Given the description of an element on the screen output the (x, y) to click on. 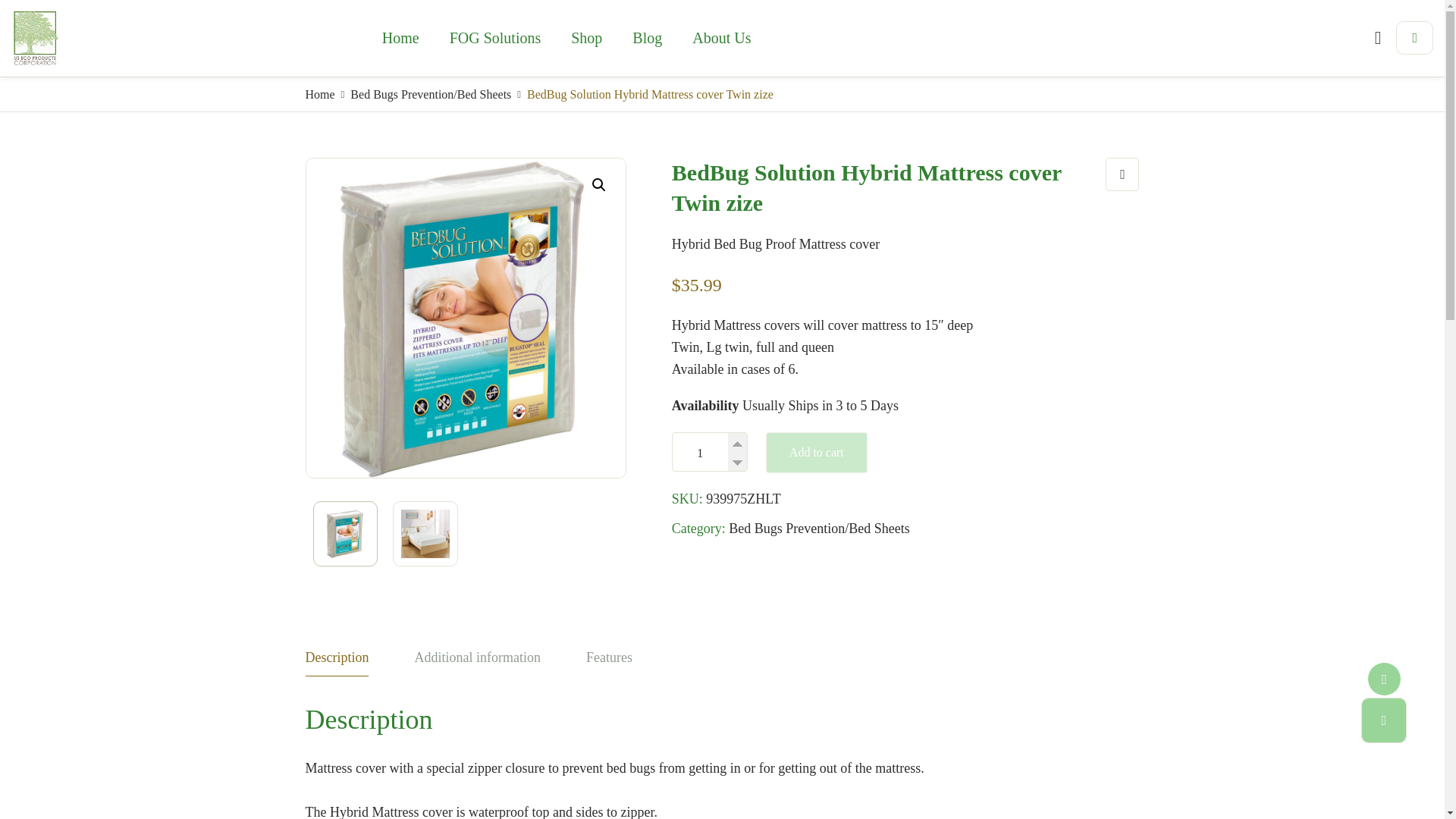
Shop (586, 37)
Add to wishlist (1122, 174)
BedBug Solution Hybrid - Open (785, 317)
1 (709, 453)
Add to cart (816, 452)
Home (319, 93)
Features (608, 661)
Description (336, 661)
Home (399, 37)
Additional information (476, 661)
FOG Solutions (494, 37)
About Us (721, 37)
Blog (647, 37)
